Given the description of an element on the screen output the (x, y) to click on. 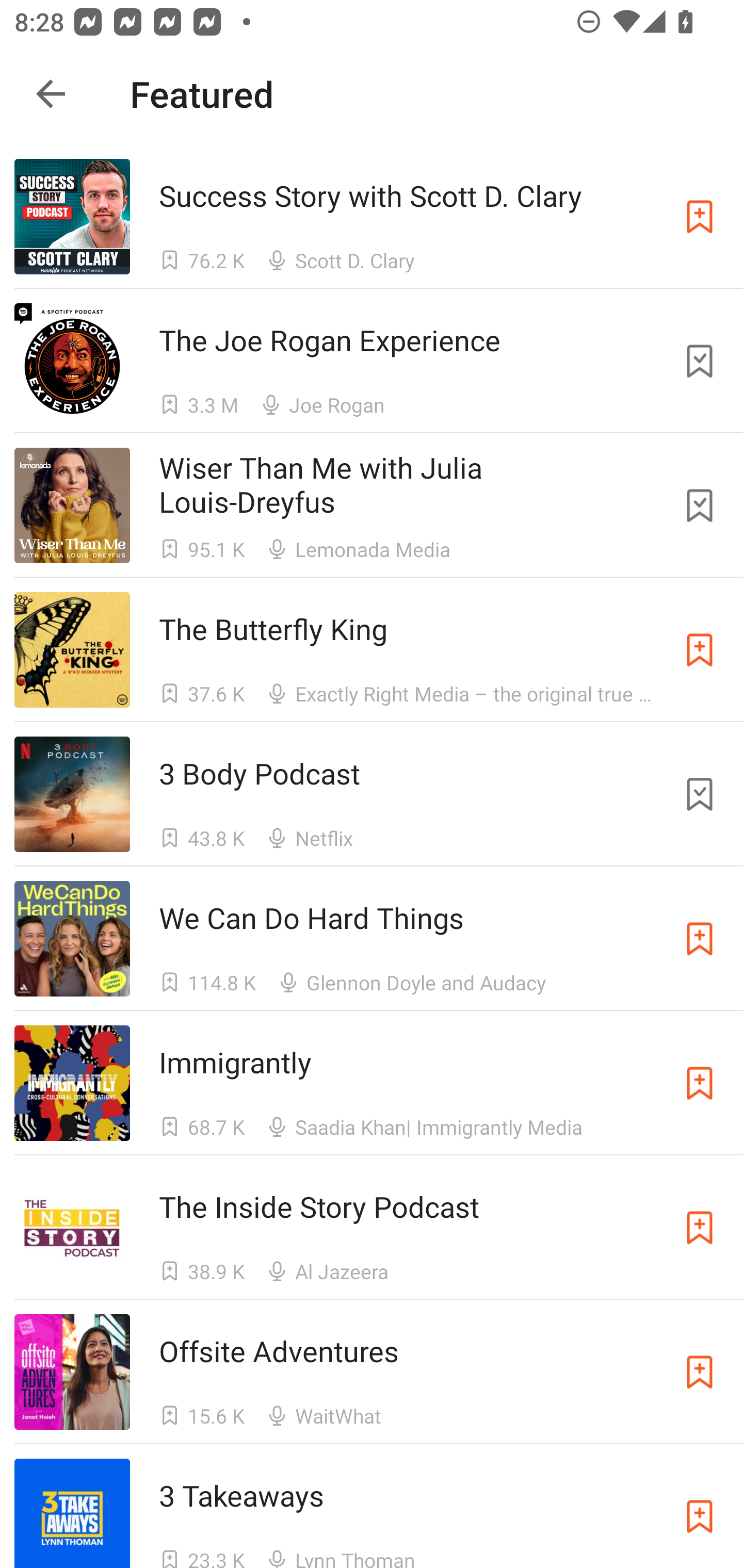
Navigate up (50, 93)
Subscribe (699, 216)
Unsubscribe (699, 360)
Unsubscribe (699, 505)
Subscribe (699, 649)
Unsubscribe (699, 793)
Subscribe (699, 939)
Subscribe (699, 1083)
Subscribe (699, 1227)
Subscribe (699, 1371)
Subscribe (699, 1513)
